Given the description of an element on the screen output the (x, y) to click on. 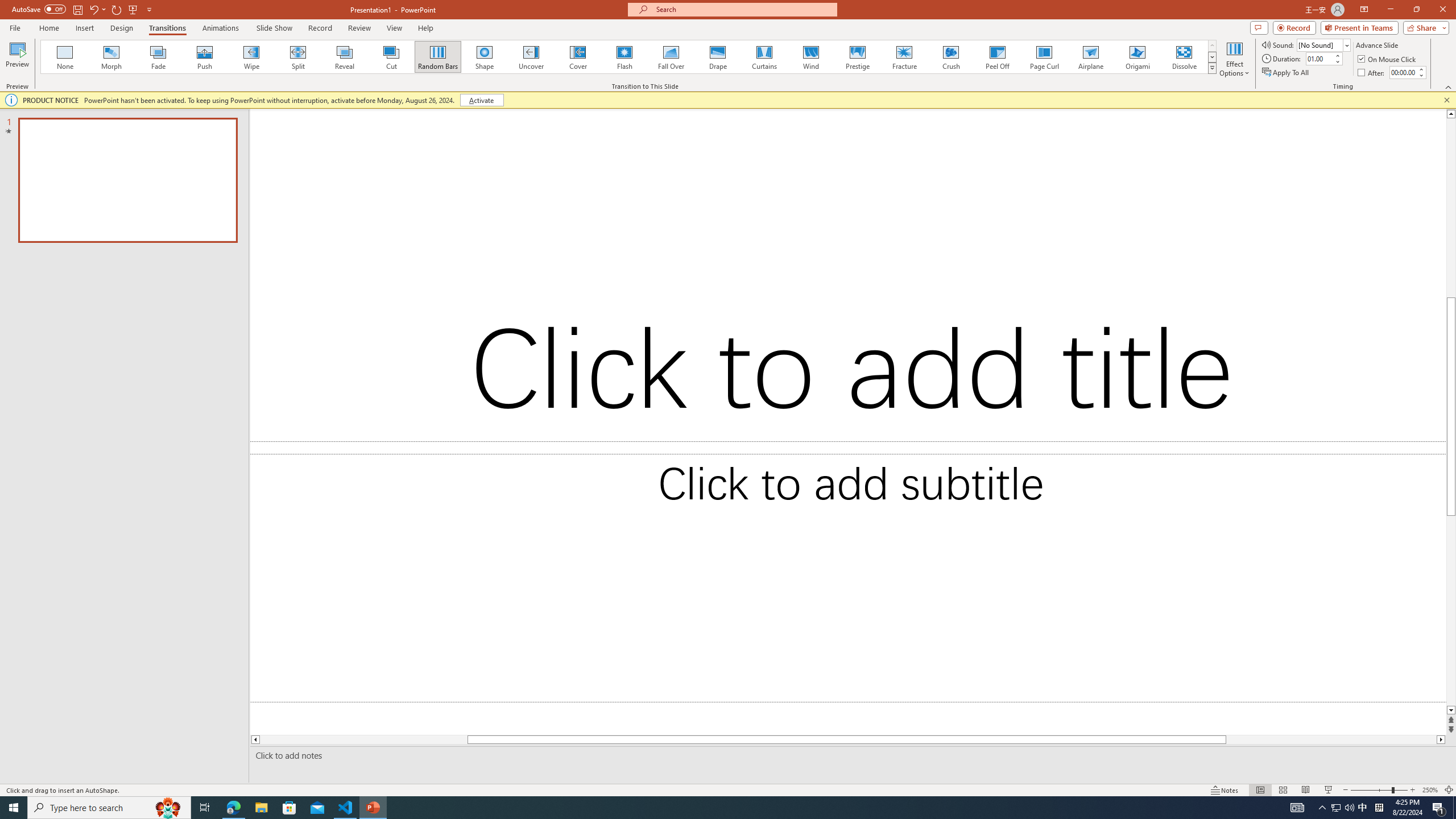
Airplane (1090, 56)
On Mouse Click (1387, 58)
Close this message (1446, 99)
